Given the description of an element on the screen output the (x, y) to click on. 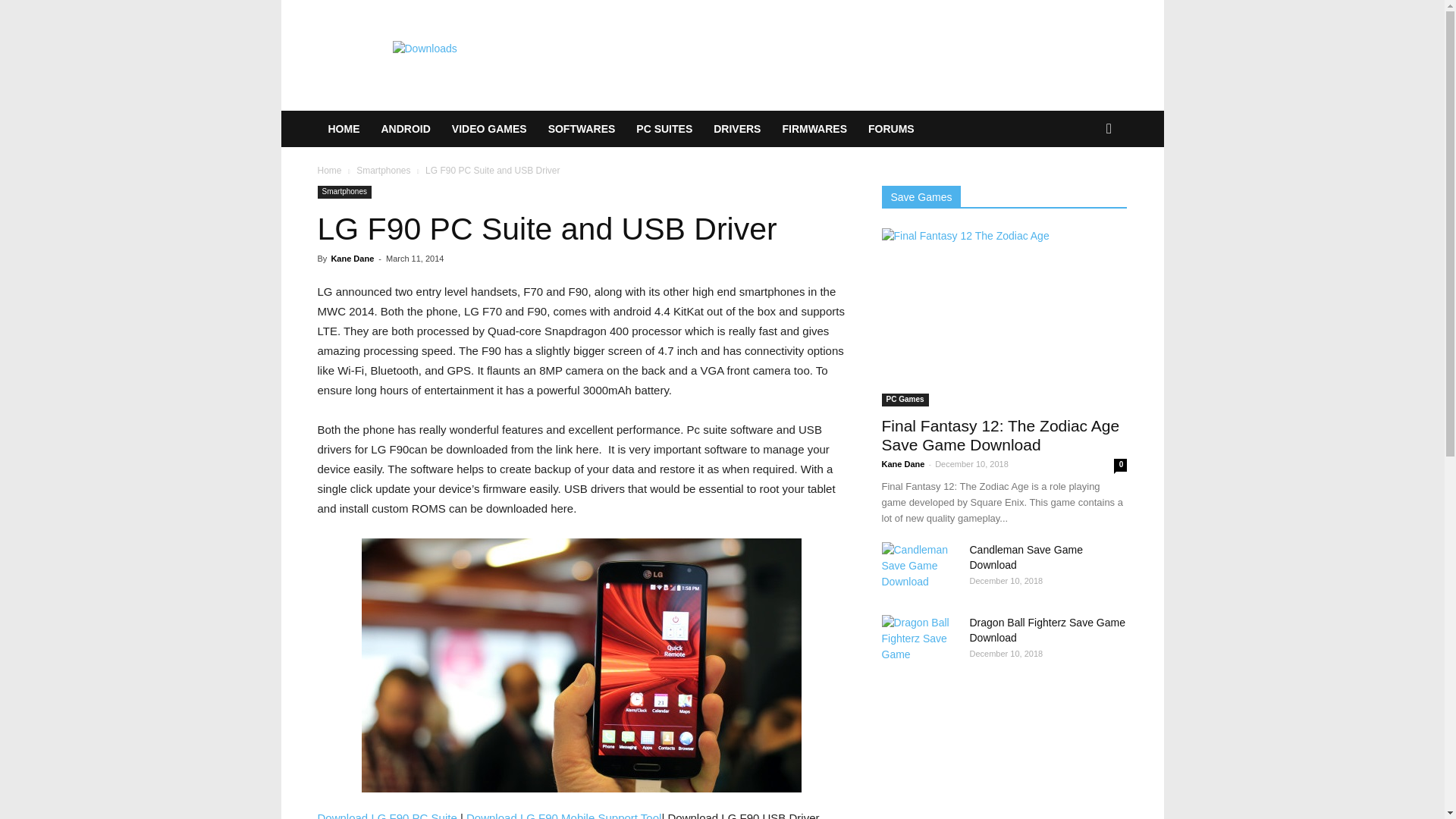
ANDROID (405, 128)
Android (405, 128)
SOFTWARES (581, 128)
PC SUITES (664, 128)
Search (1085, 189)
DRIVERS (737, 128)
FIRMWARES (814, 128)
HOME (343, 128)
VIDEO GAMES (489, 128)
FORUMS (890, 128)
